Given the description of an element on the screen output the (x, y) to click on. 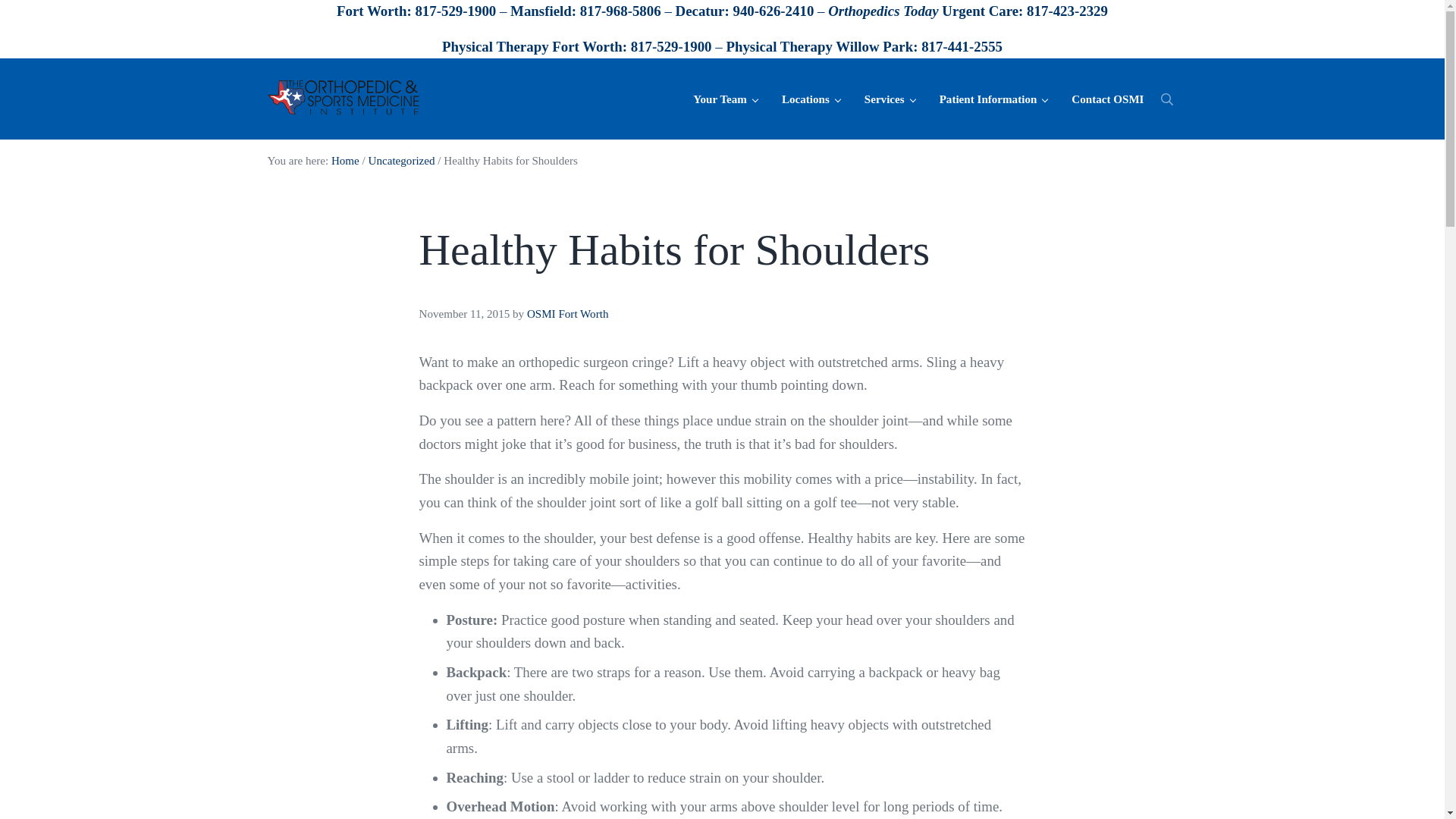
Orthopedics Today Urgent Care (922, 10)
Your Team (725, 98)
Physical Therapy Willow Park (818, 46)
Fort Worth (371, 10)
817-423-2329 (1067, 10)
Orthopedic Diseases Disorders (889, 98)
817-529-1900 (670, 46)
817-441-2555 (962, 46)
Decatur (700, 10)
